Given the description of an element on the screen output the (x, y) to click on. 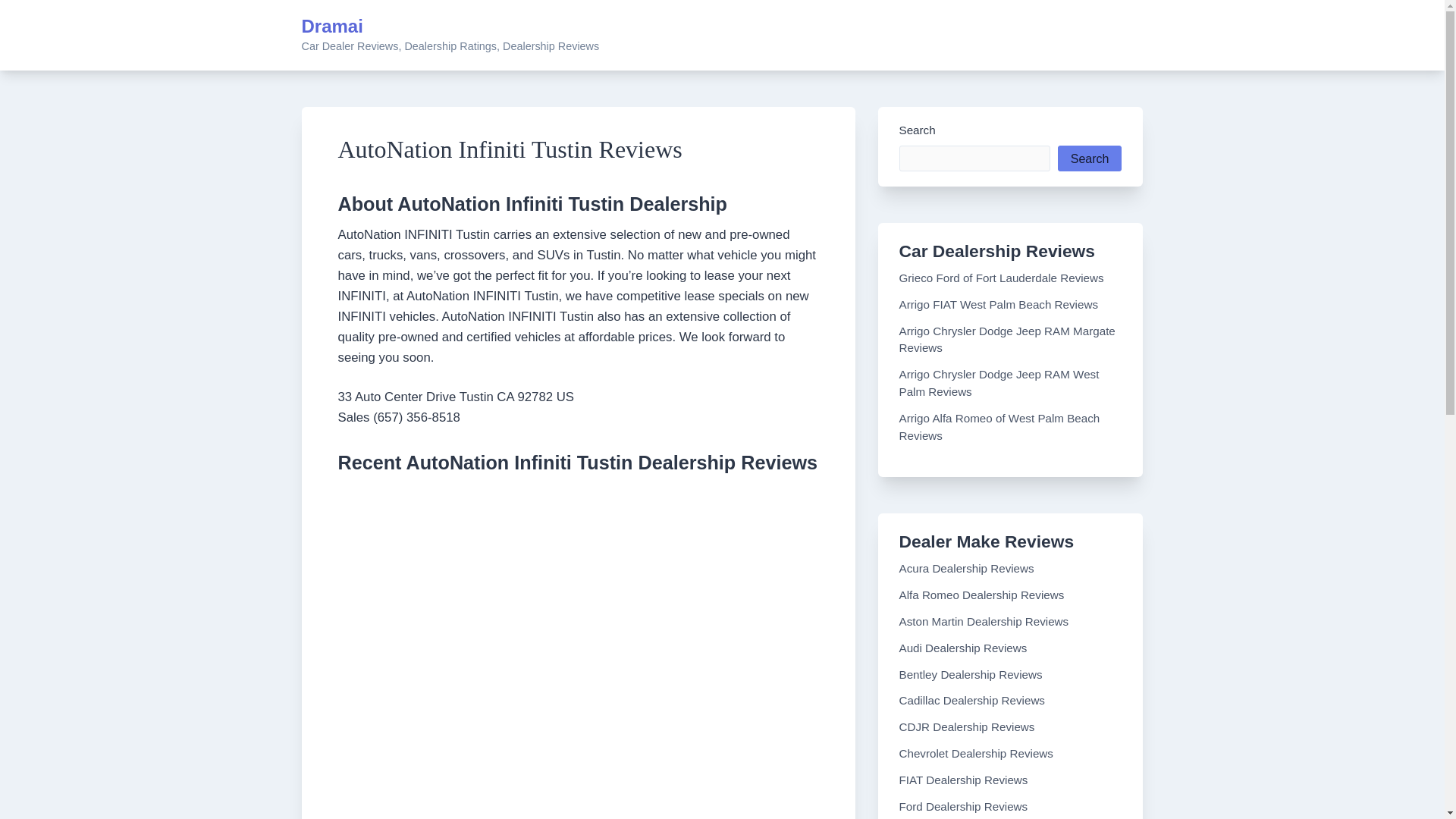
Dramai (331, 25)
CDJR Dealership Reviews (967, 726)
FIAT Dealership Reviews (963, 779)
Search (1090, 158)
Ford Dealership Reviews (963, 806)
Arrigo Chrysler Dodge Jeep RAM West Palm Reviews (999, 382)
Arrigo FIAT West Palm Beach Reviews (999, 304)
Audi Dealership Reviews (963, 647)
Arrigo Alfa Romeo of West Palm Beach Reviews (999, 426)
Alfa Romeo Dealership Reviews (981, 594)
